Given the description of an element on the screen output the (x, y) to click on. 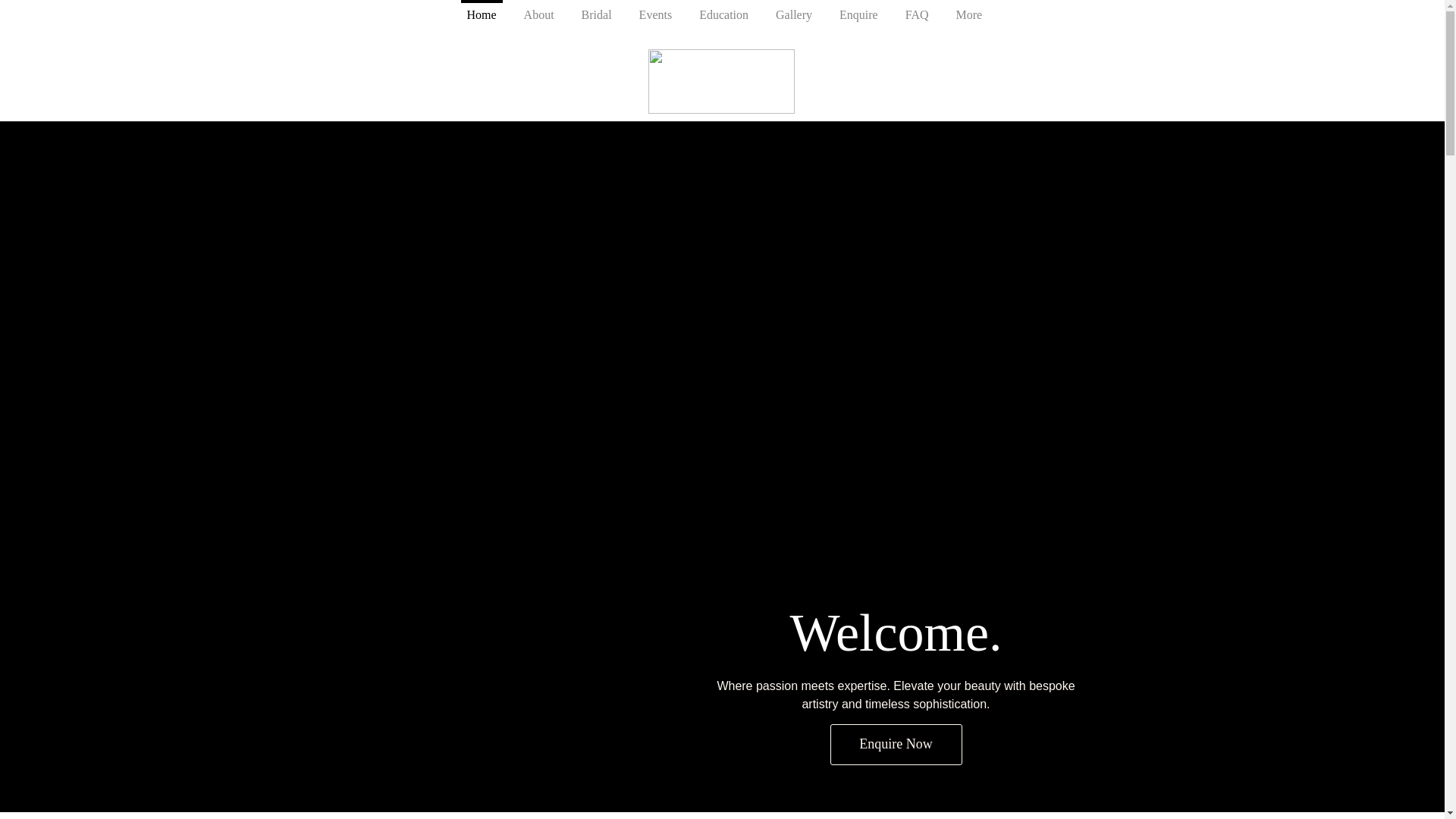
Home (481, 18)
Education (723, 18)
Bridal (596, 18)
Enquire (858, 18)
About (539, 18)
Events (655, 18)
Enquire Now (894, 743)
FAQ (916, 18)
Gallery (793, 18)
